Given the description of an element on the screen output the (x, y) to click on. 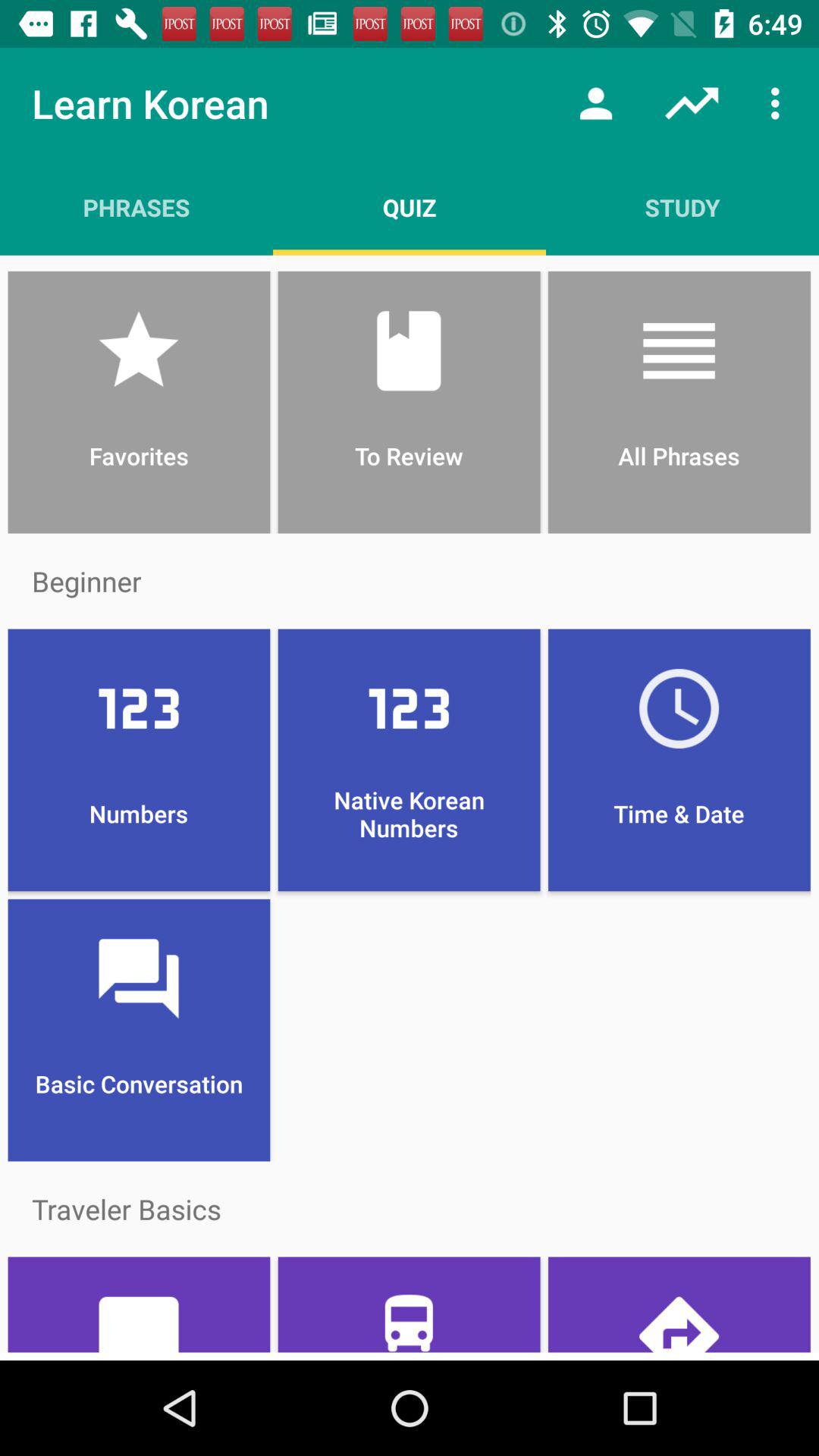
turn off the app to the right of the quiz (595, 103)
